Given the description of an element on the screen output the (x, y) to click on. 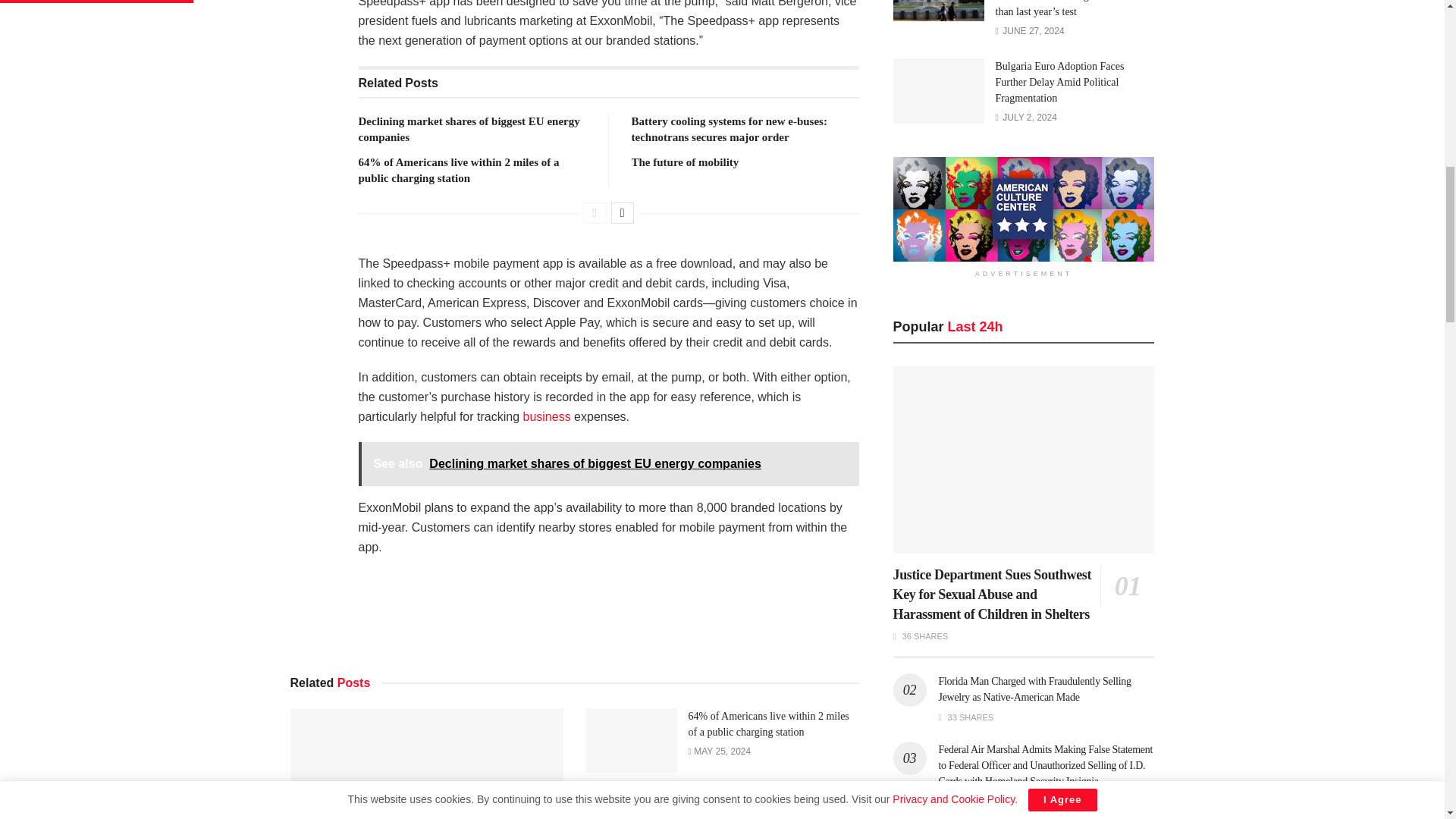
Previous (594, 212)
Business (546, 416)
Next (622, 212)
